Given the description of an element on the screen output the (x, y) to click on. 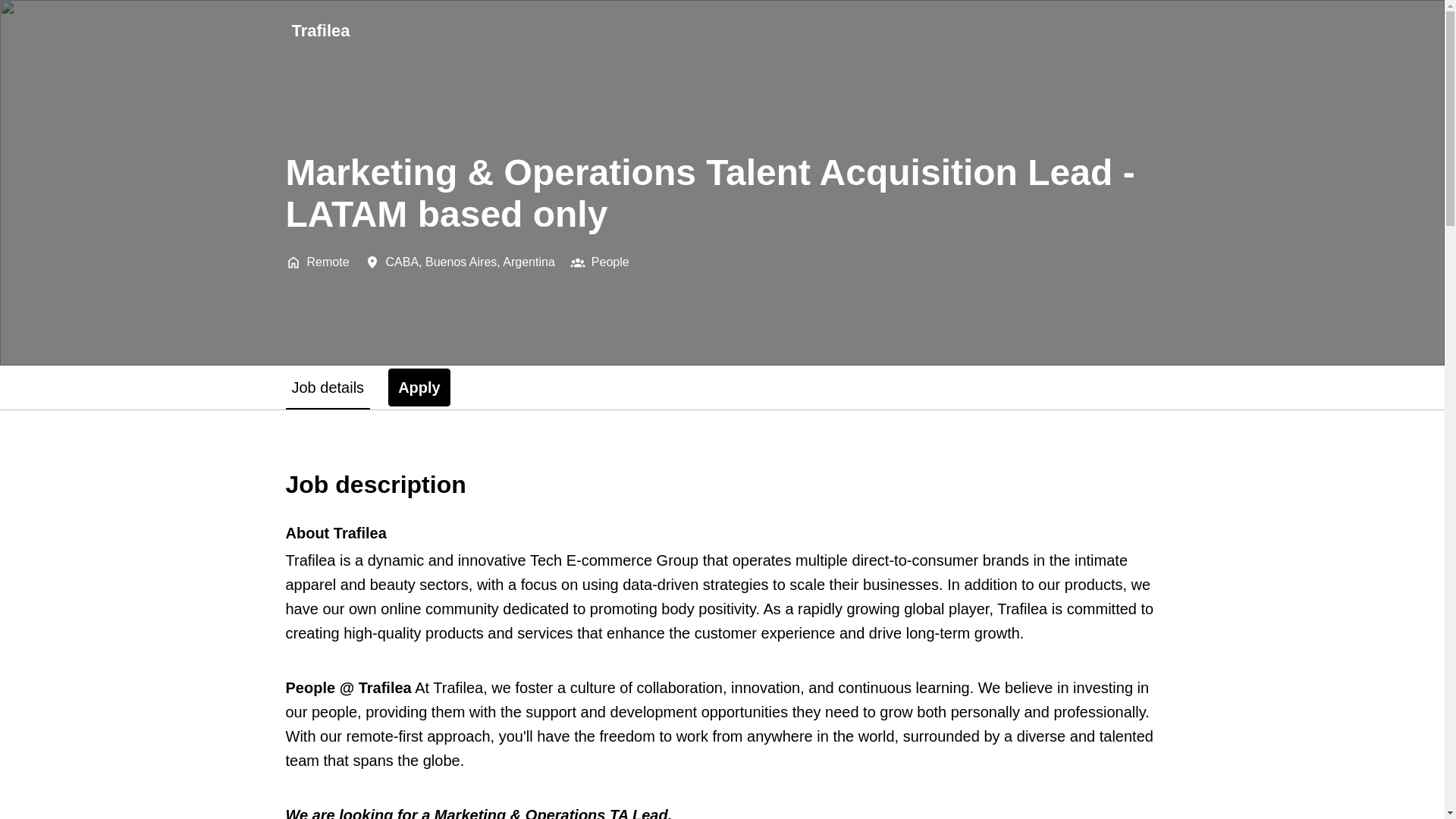
Apply (320, 30)
Job details (418, 387)
